Given the description of an element on the screen output the (x, y) to click on. 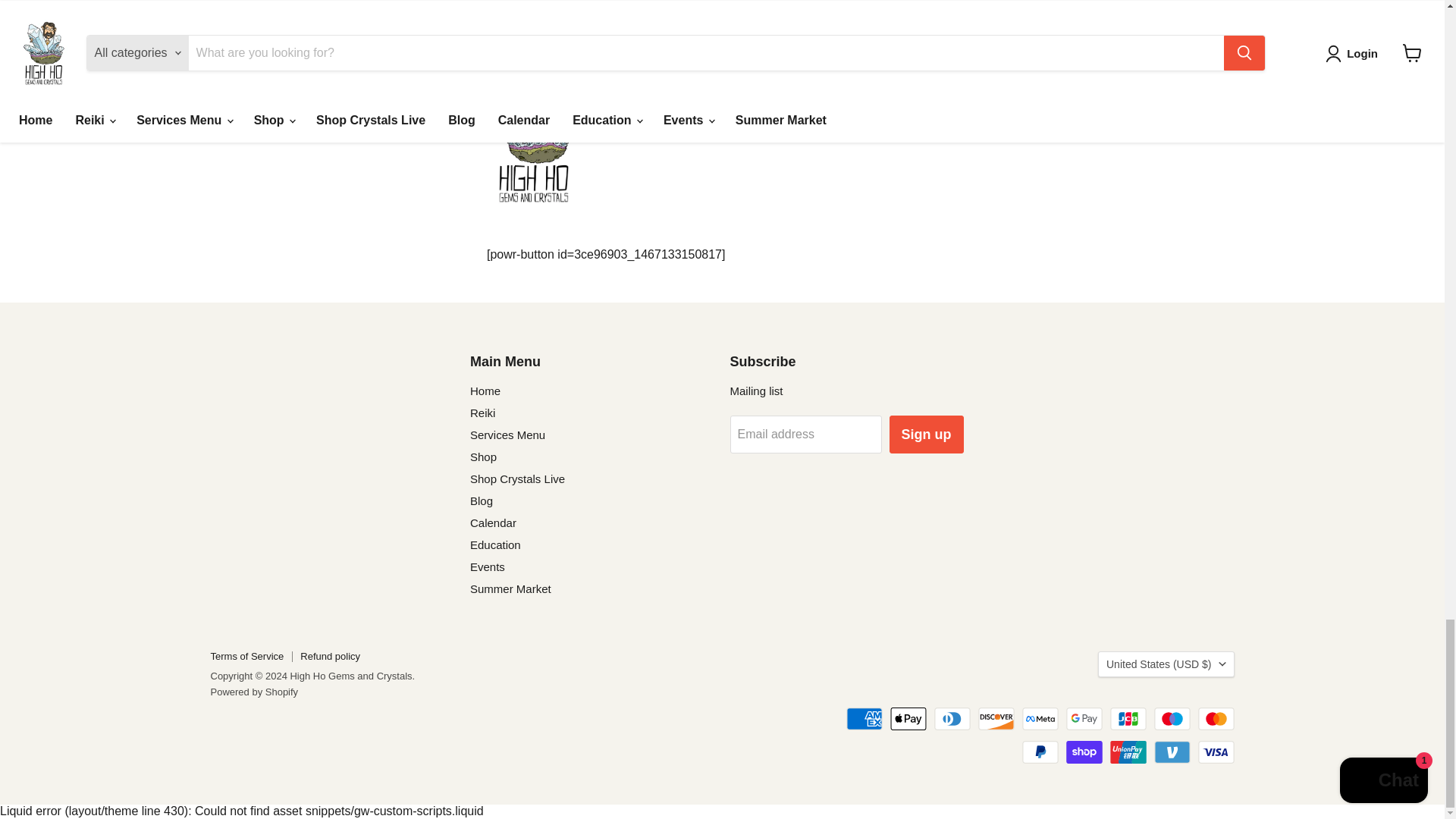
Google Pay (1083, 718)
JCB (1128, 718)
PayPal (1040, 752)
Diners Club (952, 718)
Apple Pay (907, 718)
Shop Pay (1083, 752)
American Express (863, 718)
Mastercard (1216, 718)
Discover (996, 718)
Maestro (1172, 718)
Meta Pay (1040, 718)
